Given the description of an element on the screen output the (x, y) to click on. 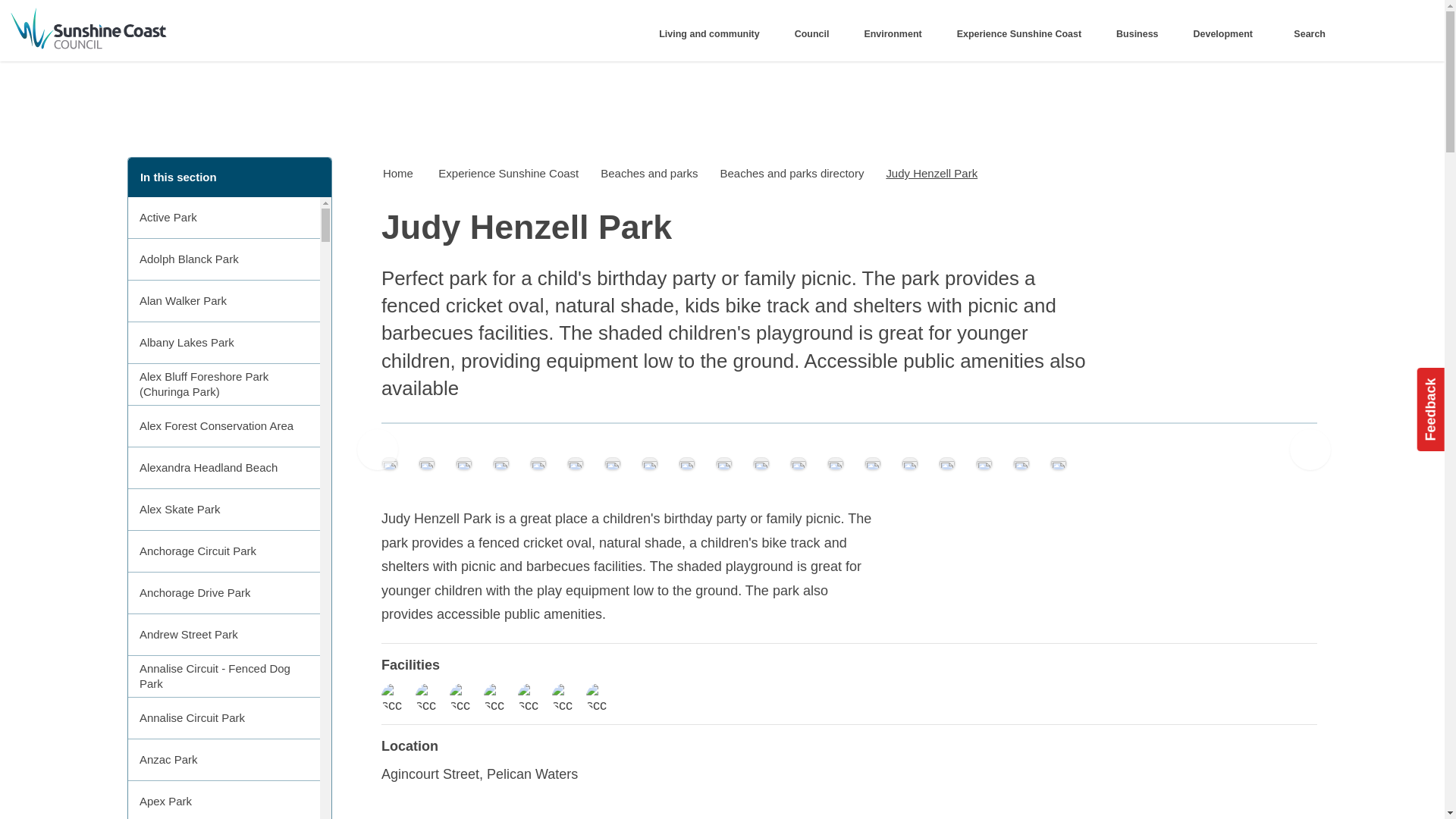
Business (1142, 34)
Council (815, 34)
Search Sunshine Coast Council website (1306, 34)
Living and community (713, 34)
Environment (897, 34)
Council (815, 34)
Sunshine Coast Council (202, 30)
Development (1227, 34)
Experience Sunshine Coast (1023, 34)
Search (1306, 34)
